Given the description of an element on the screen output the (x, y) to click on. 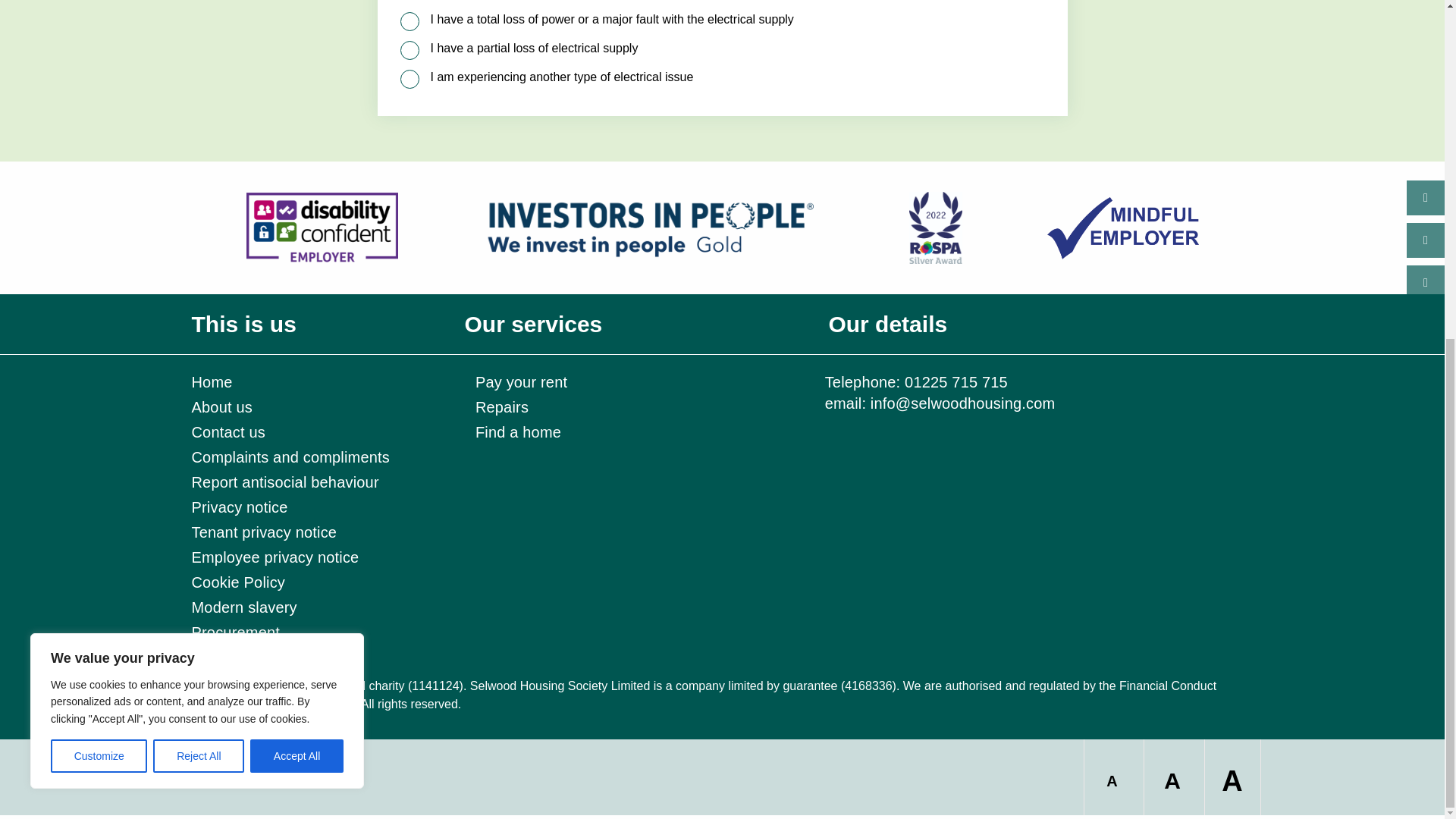
Reject All (198, 182)
Customize (98, 182)
invest-in-people-gold-R-1 (652, 227)
Mindful-Employer-logo-768x314-1 (1122, 228)
Accept All (296, 182)
Bitmap-3 (321, 227)
